Given the description of an element on the screen output the (x, y) to click on. 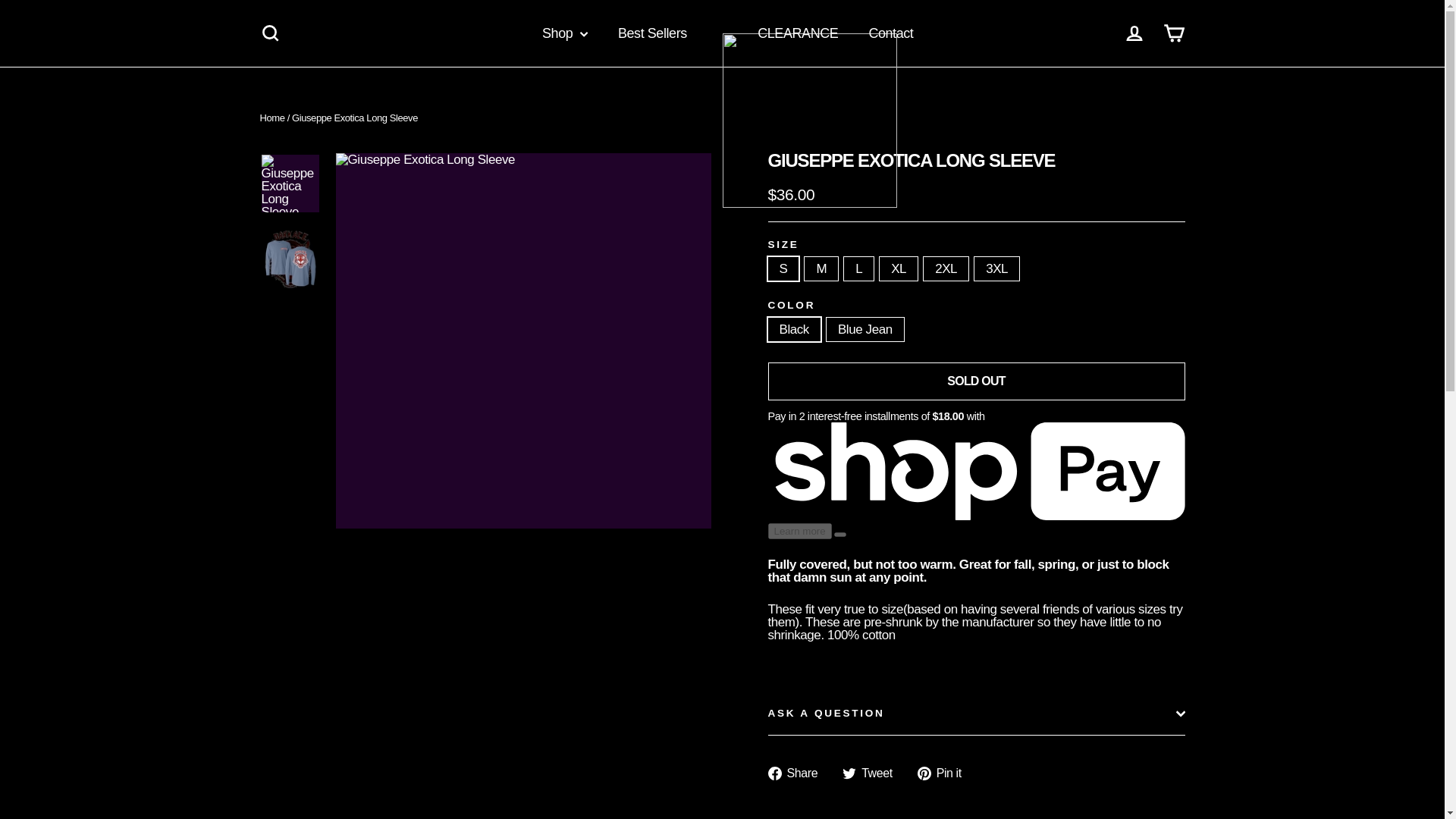
CLEARANCE (797, 32)
Back to the frontpage (271, 117)
Tweet on Twitter (873, 773)
Pin on Pinterest (944, 773)
Share on Facebook (797, 773)
icon-cart (1174, 33)
Contact (890, 32)
Best Sellers (651, 32)
Home (271, 117)
